Given the description of an element on the screen output the (x, y) to click on. 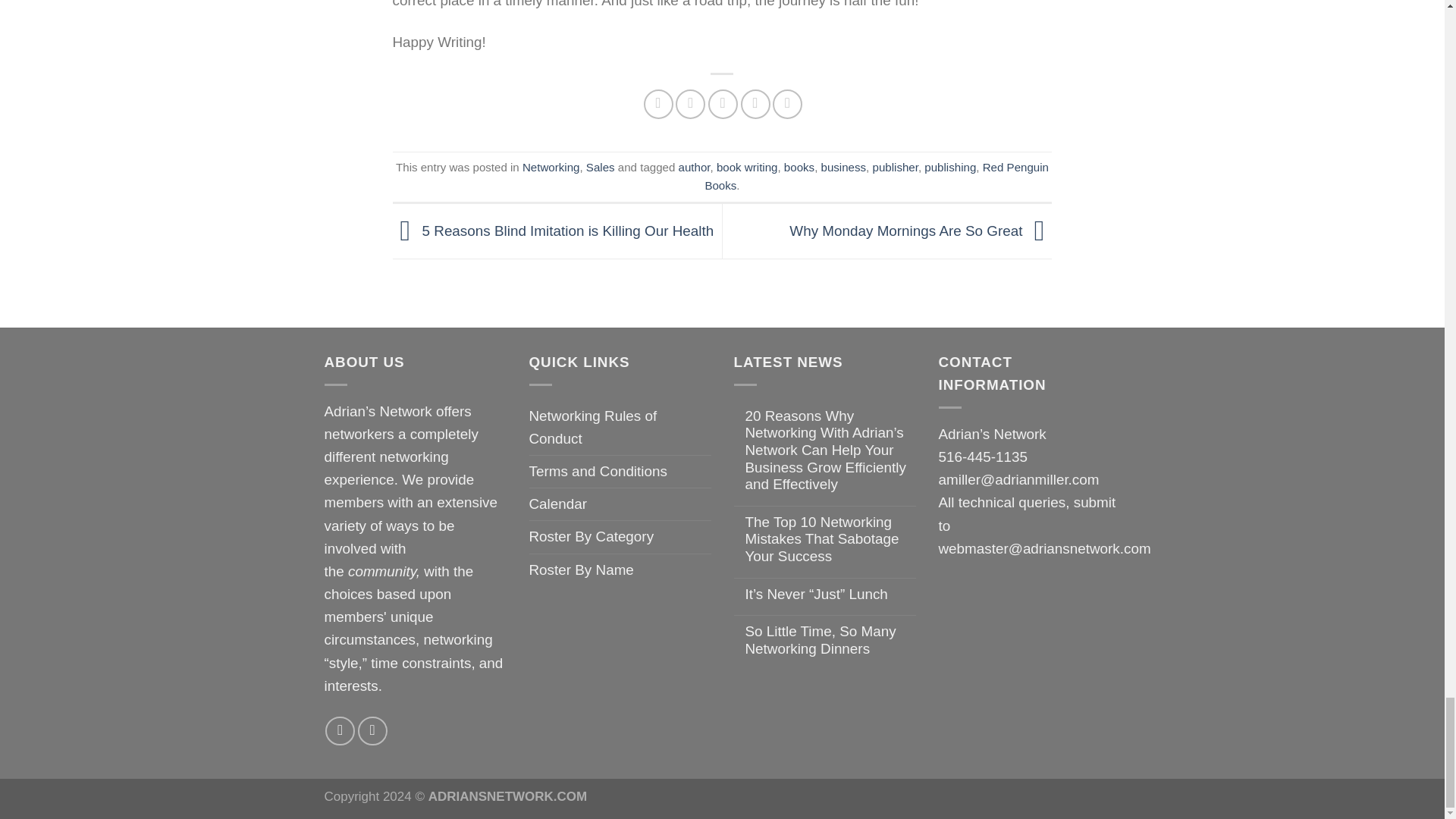
So Little Time, So Many Networking Dinners (829, 640)
The Top 10 Networking Mistakes That Sabotage Your Success (829, 539)
